Given the description of an element on the screen output the (x, y) to click on. 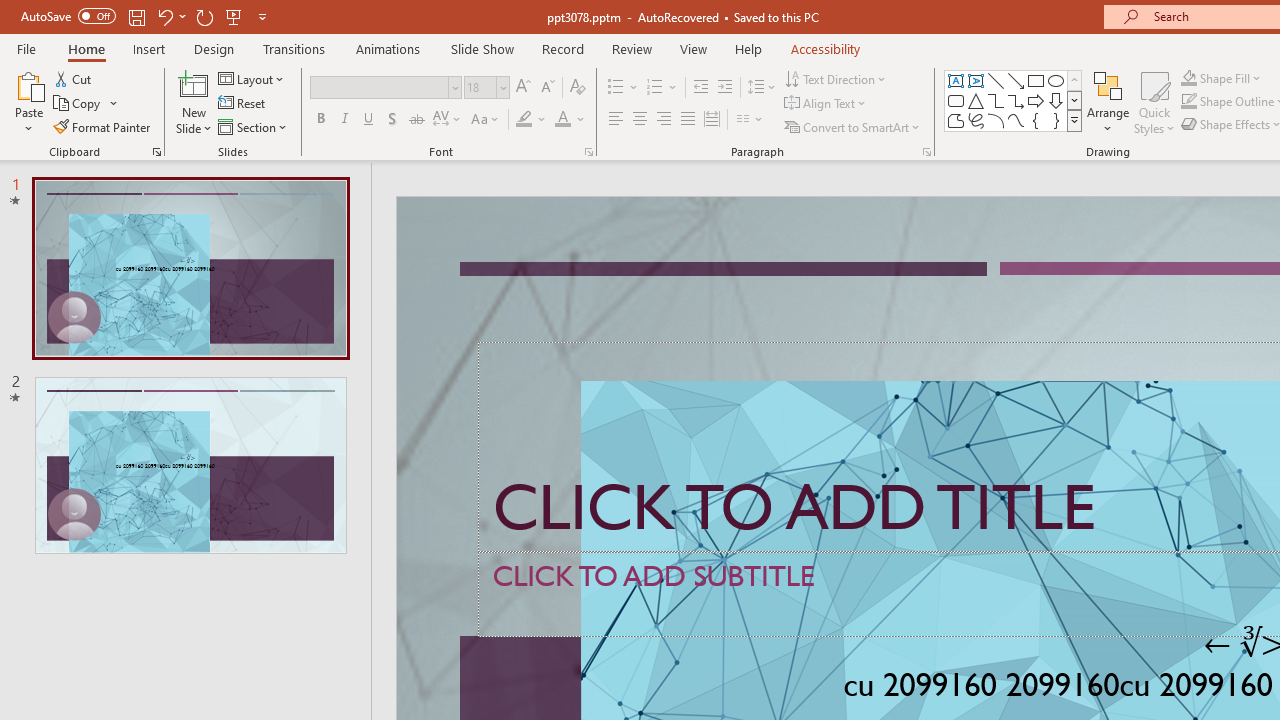
Numbering (654, 87)
Columns (750, 119)
Line (995, 80)
Connector: Elbow (995, 100)
Office Clipboard... (156, 151)
Bullets (623, 87)
Decrease Indent (700, 87)
Shape Fill (1221, 78)
